Given the description of an element on the screen output the (x, y) to click on. 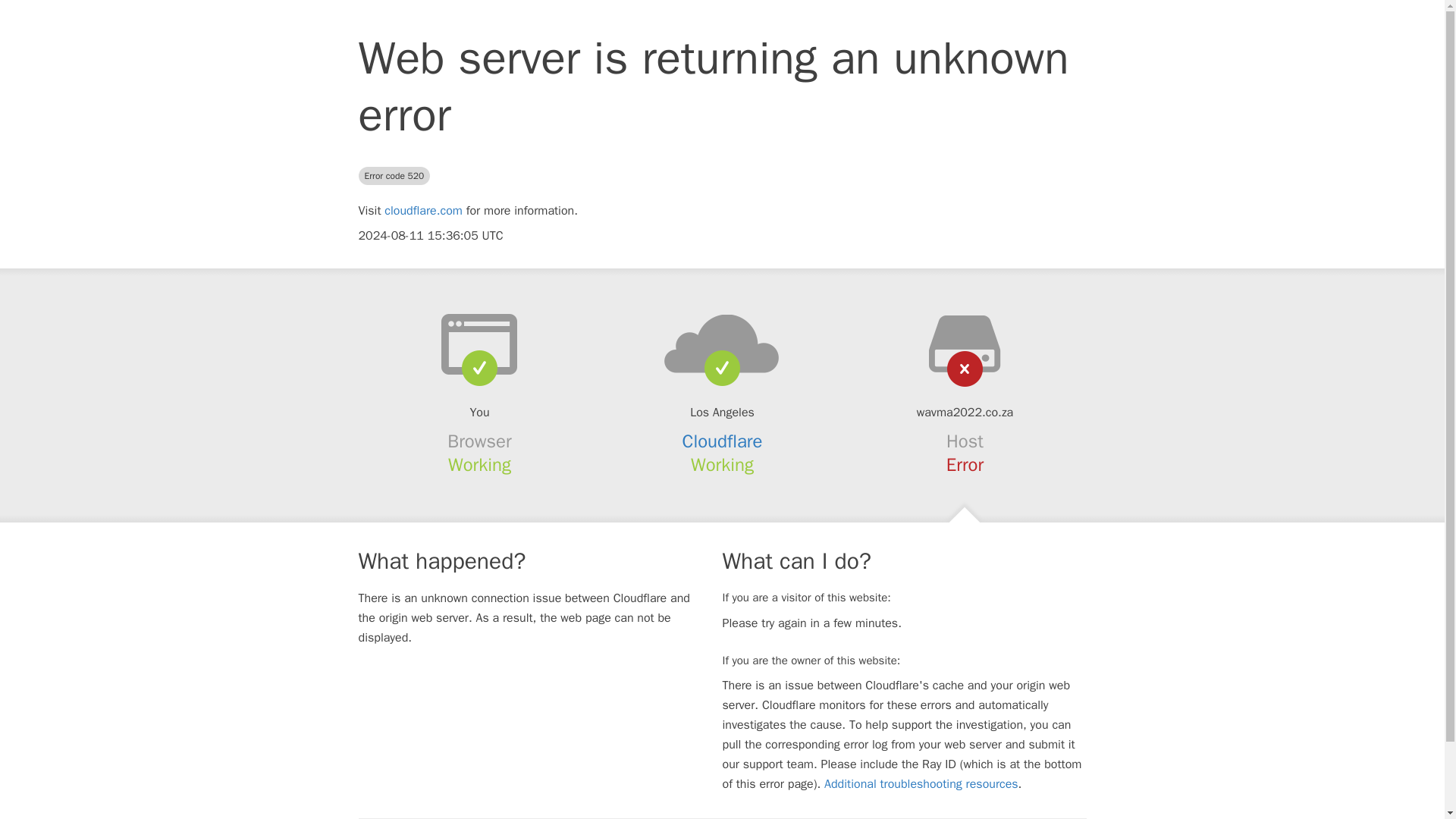
Additional troubleshooting resources (920, 783)
cloudflare.com (423, 210)
Cloudflare (722, 440)
